Given the description of an element on the screen output the (x, y) to click on. 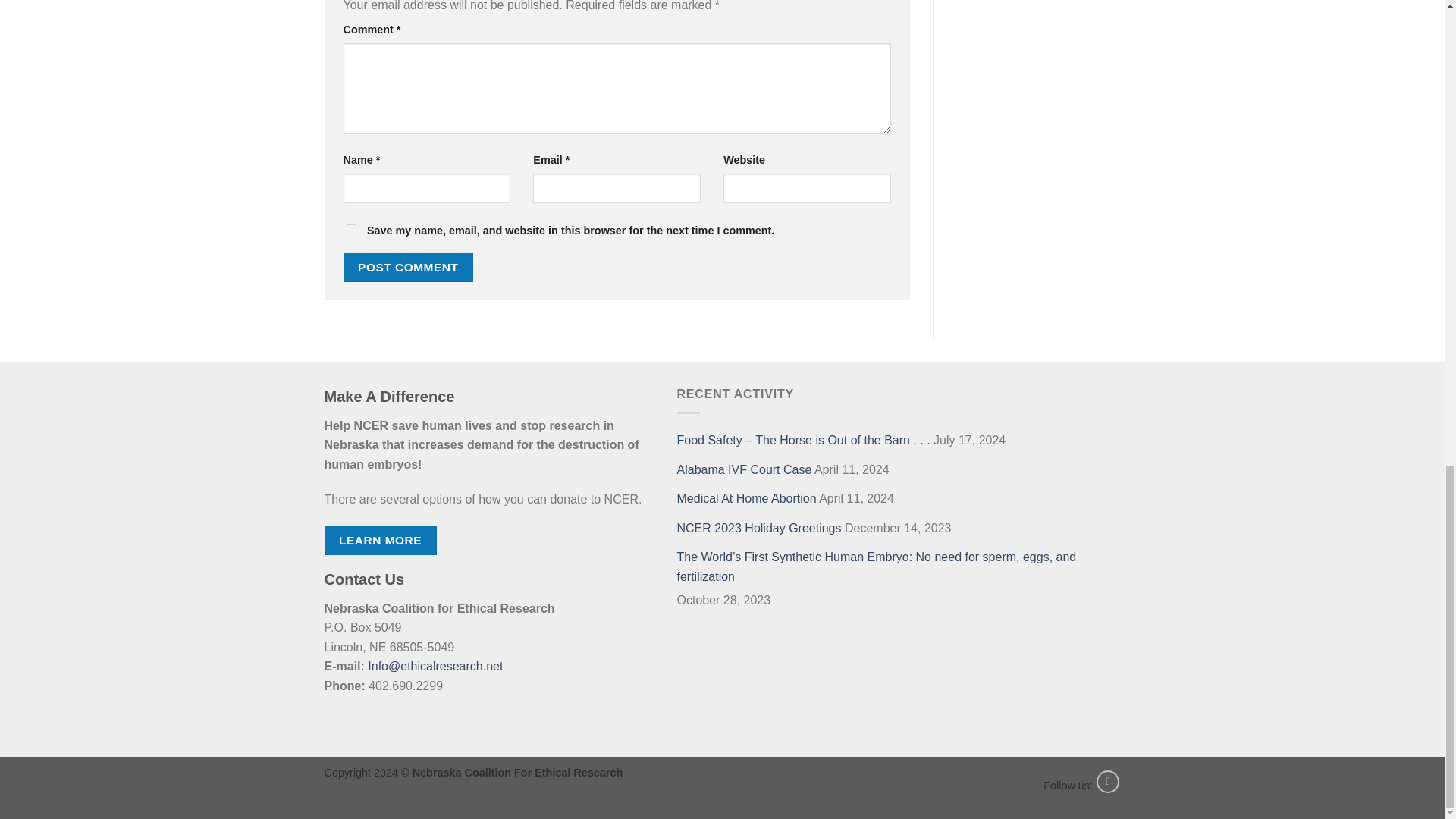
Medical At Home Abortion (746, 498)
LEARN MORE (380, 540)
yes (350, 229)
Follow on Facebook (1107, 781)
NCER 2023 Holiday Greetings (759, 528)
Alabama IVF Court Case (743, 469)
Post Comment (407, 266)
Post Comment (407, 266)
